Given the description of an element on the screen output the (x, y) to click on. 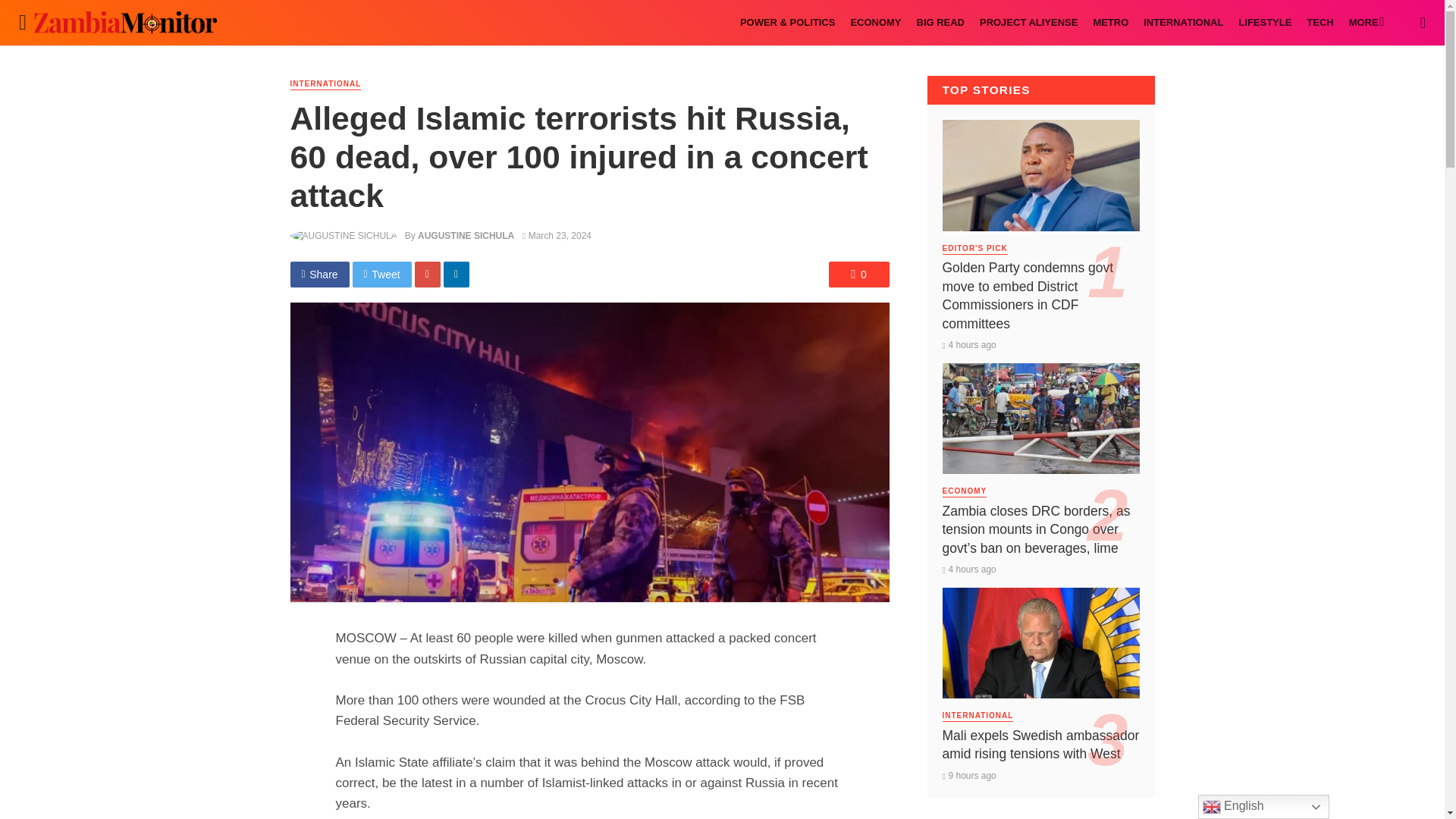
LIFESTYLE (1264, 22)
BIG READ (939, 22)
METRO (1109, 22)
ECONOMY (875, 22)
TECH (1319, 22)
INTERNATIONAL (1182, 22)
PROJECT ALIYENSE (1028, 22)
